Given the description of an element on the screen output the (x, y) to click on. 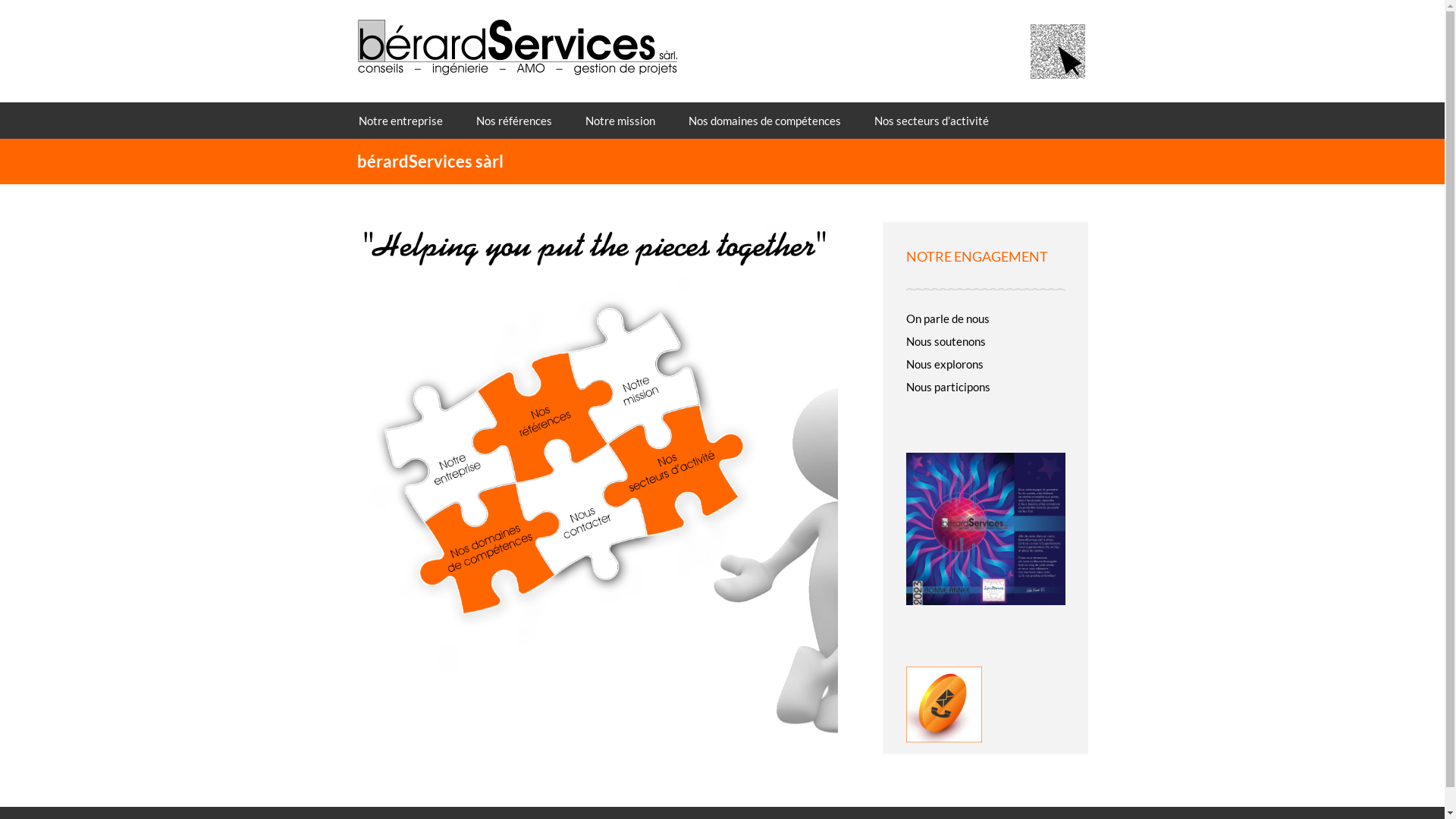
Nous explorons Element type: text (943, 363)
Nous soutenons Element type: text (945, 341)
Notre mission Element type: text (619, 120)
Notre entreprise Element type: text (399, 120)
Nous participons Element type: text (947, 386)
On parle de nous Element type: text (946, 318)
berardservices Element type: hover (516, 46)
berardservices Element type: hover (516, 41)
